Given the description of an element on the screen output the (x, y) to click on. 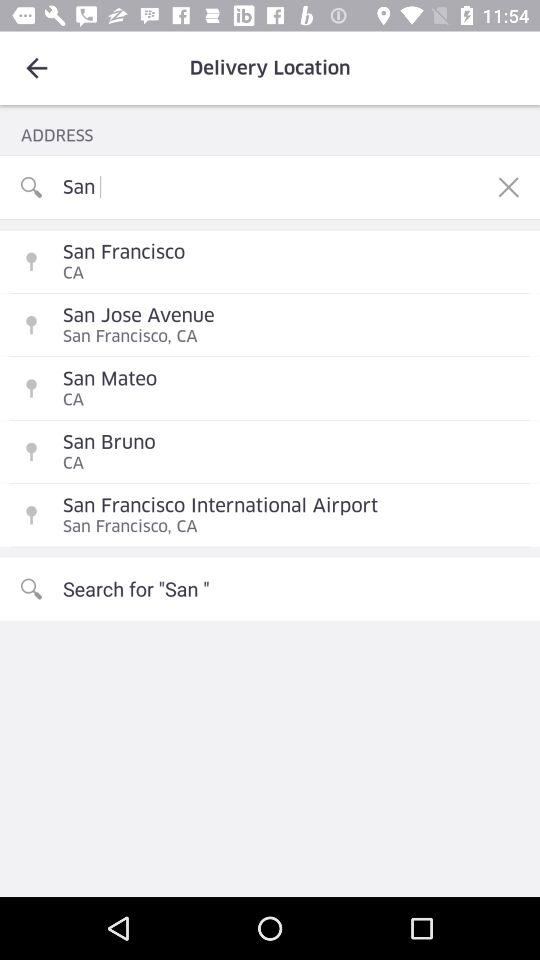
select the icon at the top right corner (508, 187)
